Given the description of an element on the screen output the (x, y) to click on. 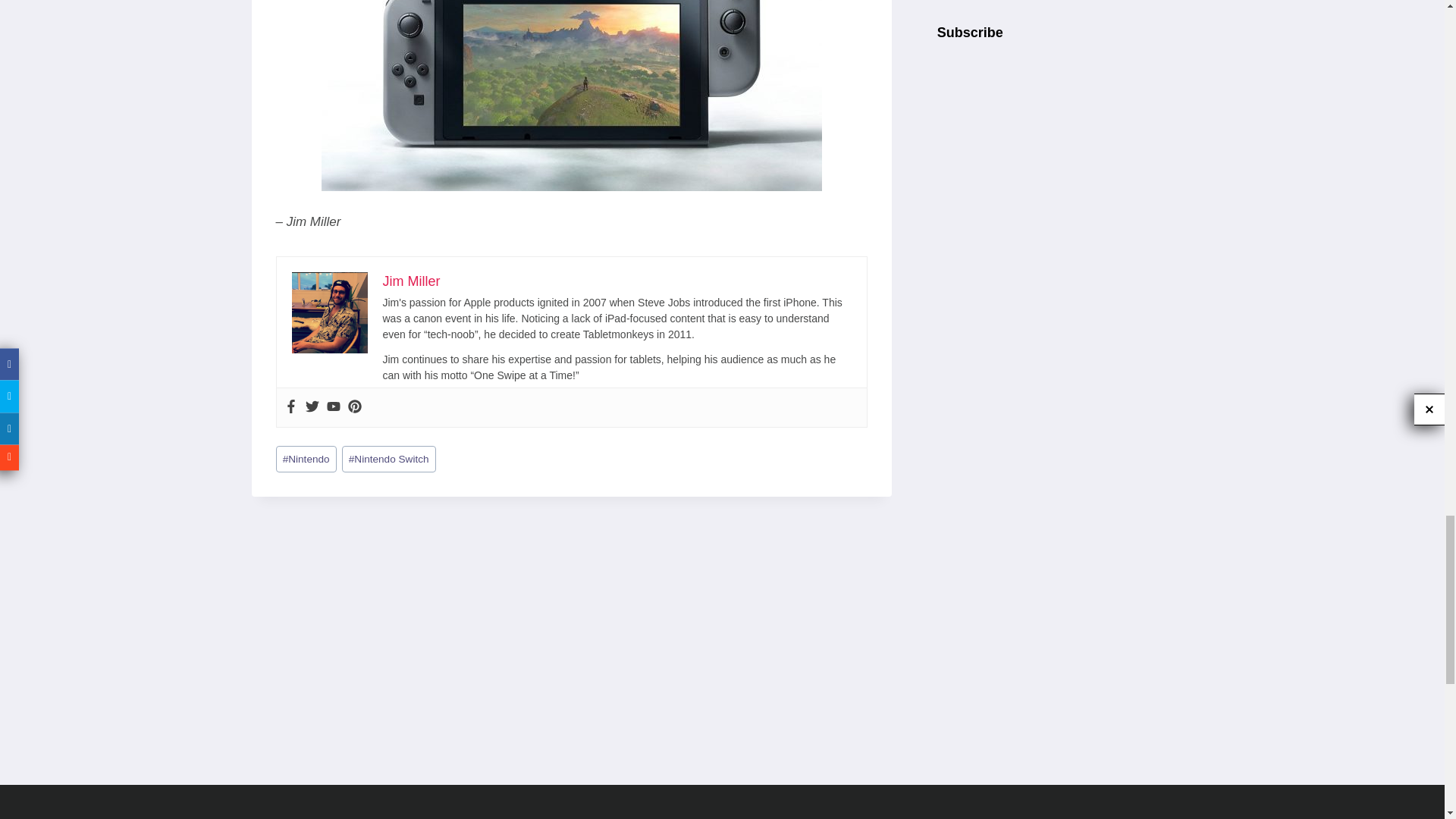
Twitter (311, 407)
Facebook (290, 407)
Jim Miller (410, 281)
Youtube (332, 407)
Nintendo Switch (388, 458)
Nintendo (306, 458)
Pinterest (354, 407)
